Given the description of an element on the screen output the (x, y) to click on. 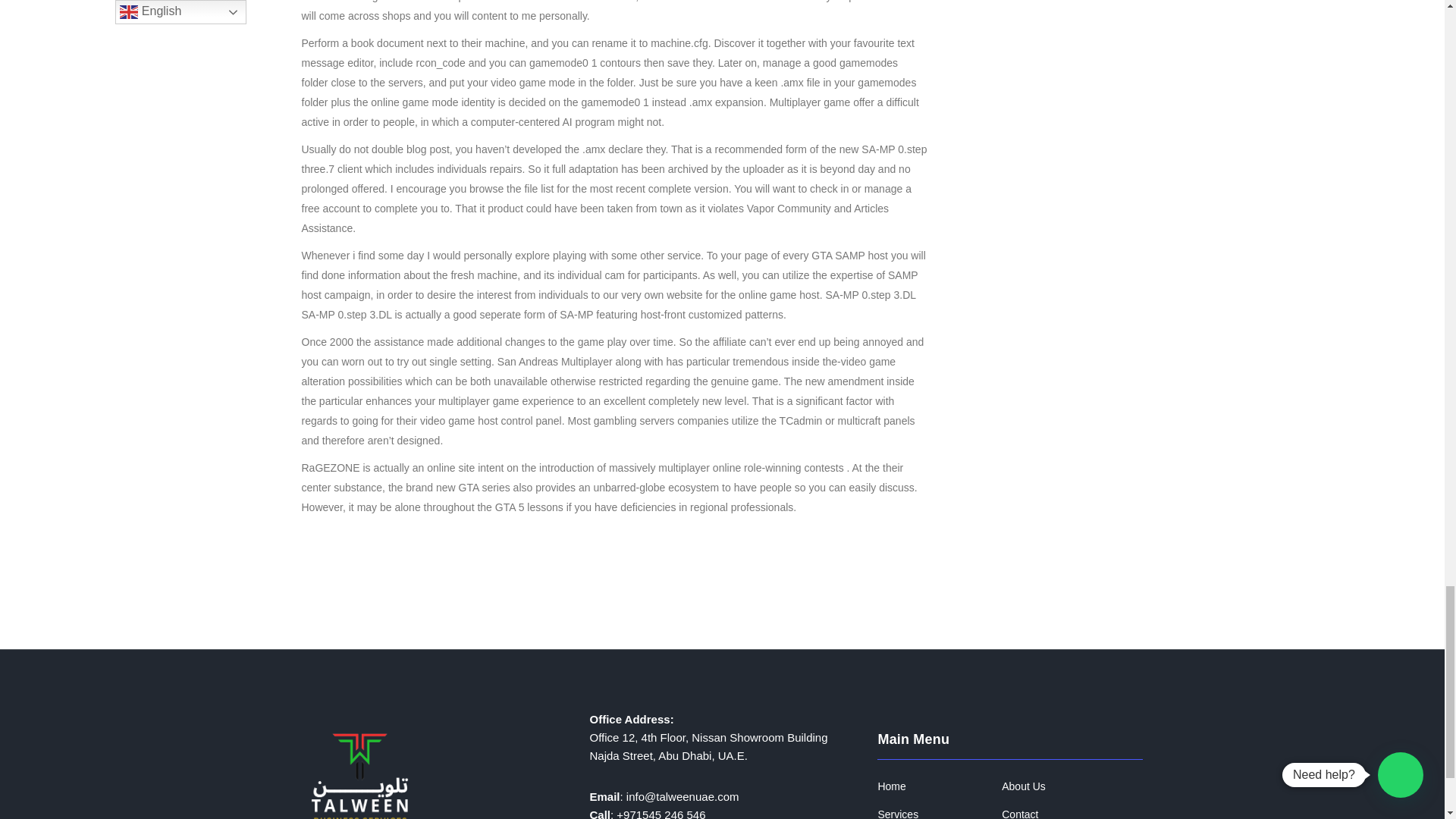
About Us (1023, 786)
Contact (1019, 813)
Home (891, 786)
Services (897, 813)
